Given the description of an element on the screen output the (x, y) to click on. 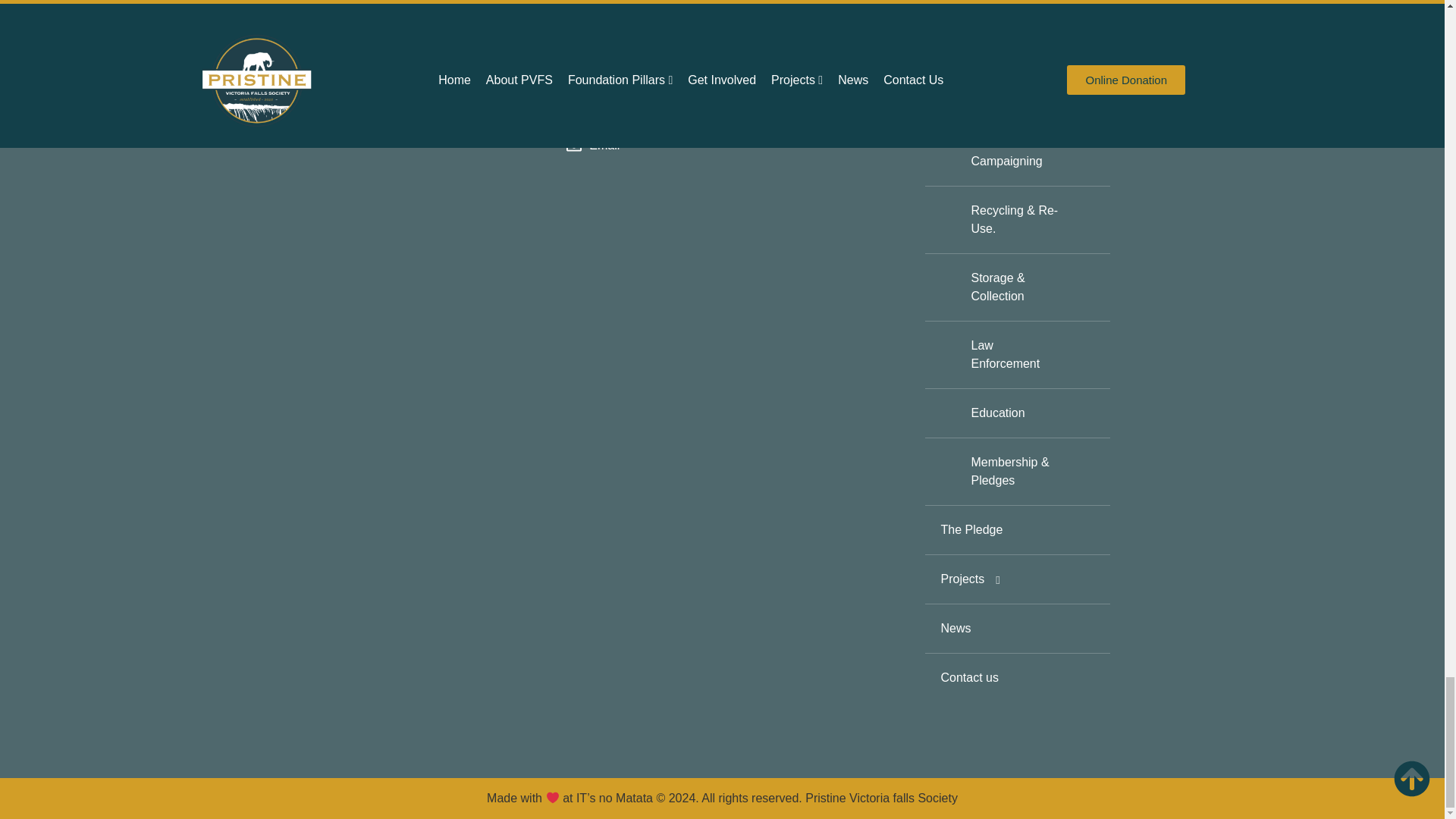
Prestine-Vic-falls-Logo-01-1 (343, 30)
